Given the description of an element on the screen output the (x, y) to click on. 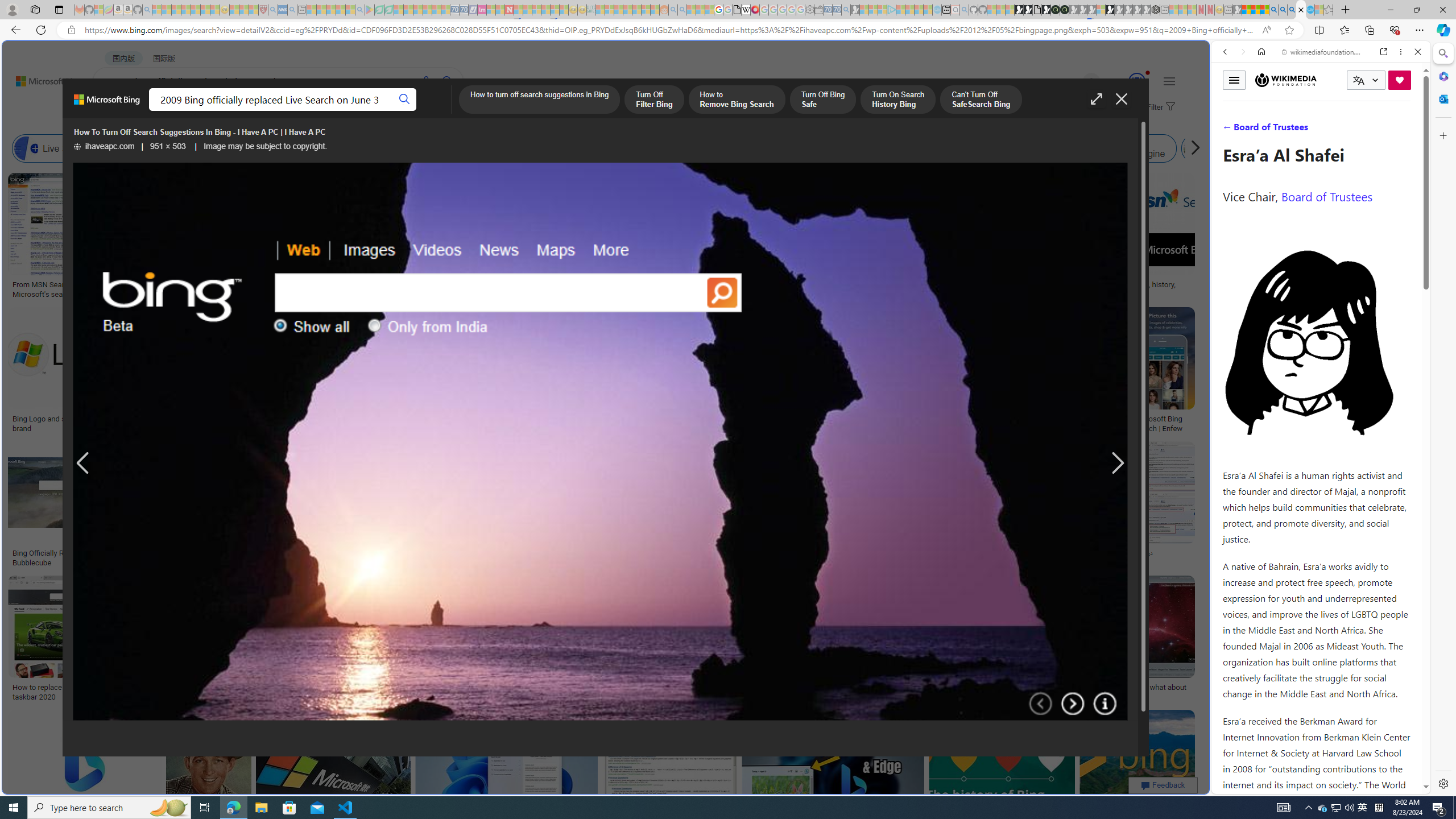
google - Search - Sleeping (359, 9)
Class: i icon icon-translate language-switcher__icon (1358, 80)
SEARCH TOOLS (1350, 130)
Filter (1158, 107)
Bing Logo Design Evolution 2009 to 2016 | Smithographic (586, 288)
MORE (451, 111)
Scroll right (1192, 148)
Bing Best Search Engine (633, 148)
Microsoft Live Logo (339, 284)
Board of Trustees (1326, 195)
